Given the description of an element on the screen output the (x, y) to click on. 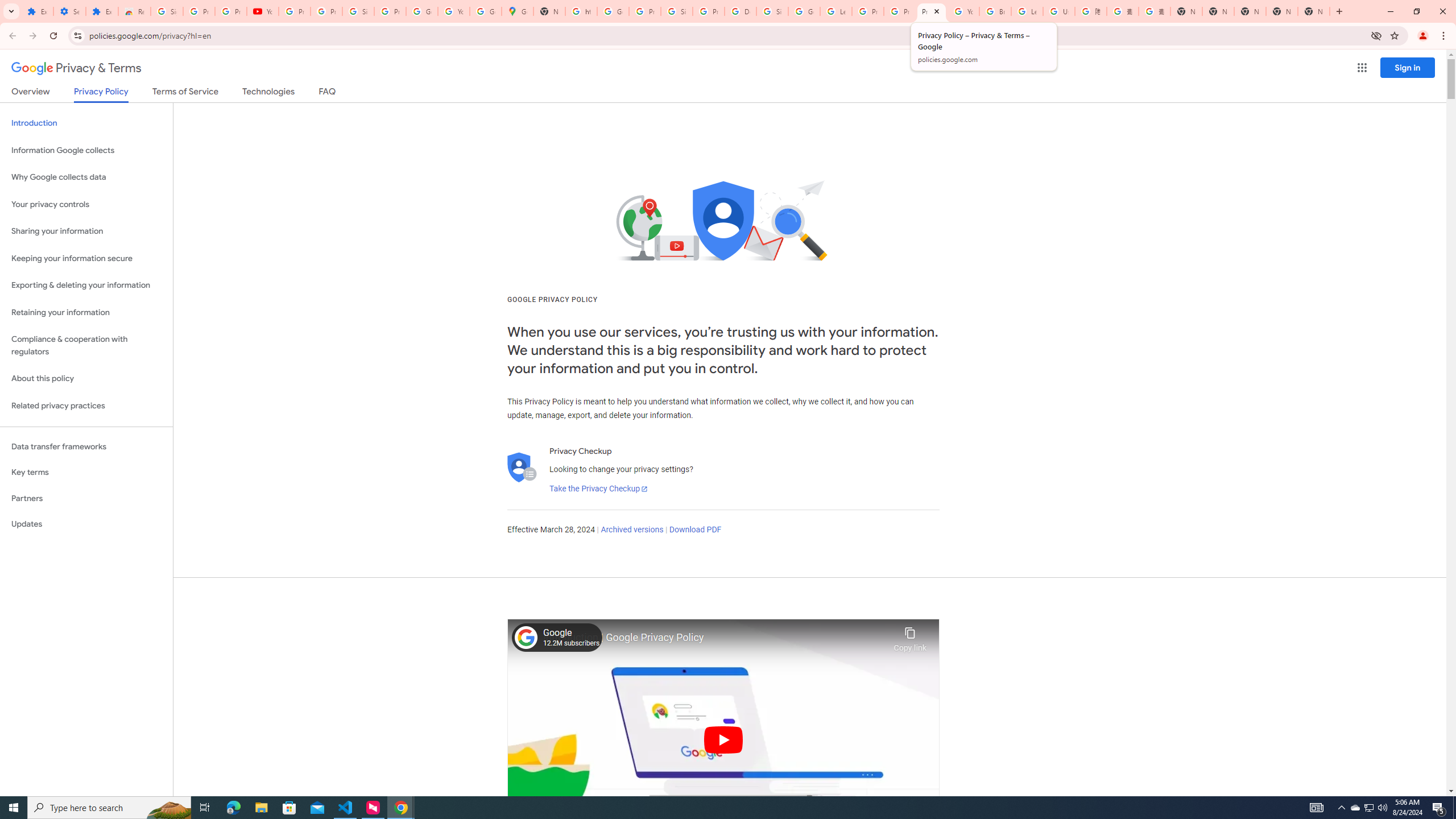
Introduction (86, 122)
Reviews: Helix Fruit Jump Arcade Game (134, 11)
YouTube (963, 11)
Google apps (1362, 67)
Sign in - Google Accounts (166, 11)
Extensions (37, 11)
Key terms (86, 472)
Privacy Help Center - Policies Help (868, 11)
Privacy Policy (100, 94)
